Given the description of an element on the screen output the (x, y) to click on. 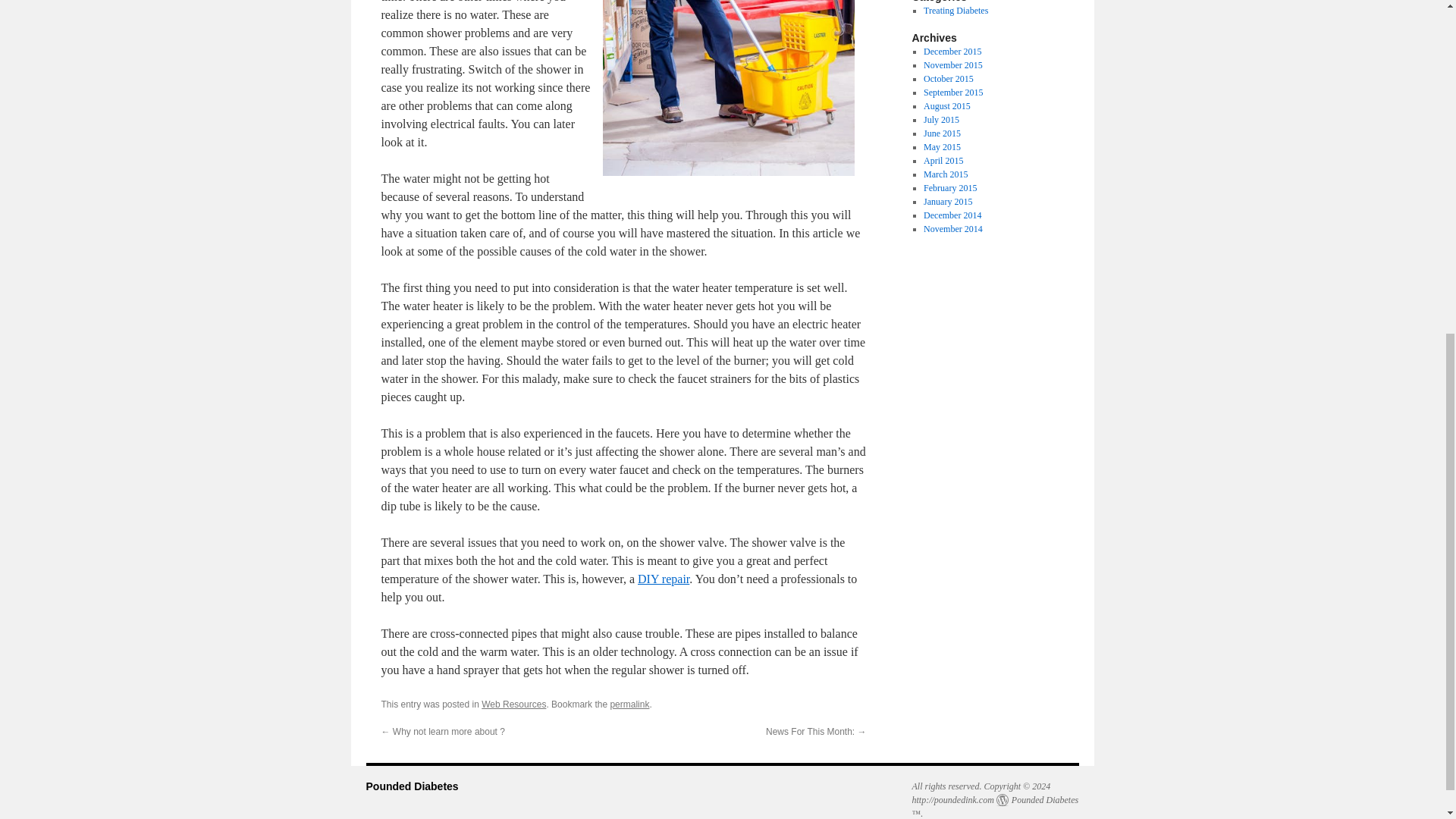
April 2015 (942, 160)
October 2015 (948, 78)
November 2014 (952, 228)
March 2015 (945, 173)
November 2015 (952, 64)
Web Resources (513, 704)
December 2015 (952, 50)
January 2015 (947, 201)
August 2015 (947, 105)
February 2015 (949, 187)
